Given the description of an element on the screen output the (x, y) to click on. 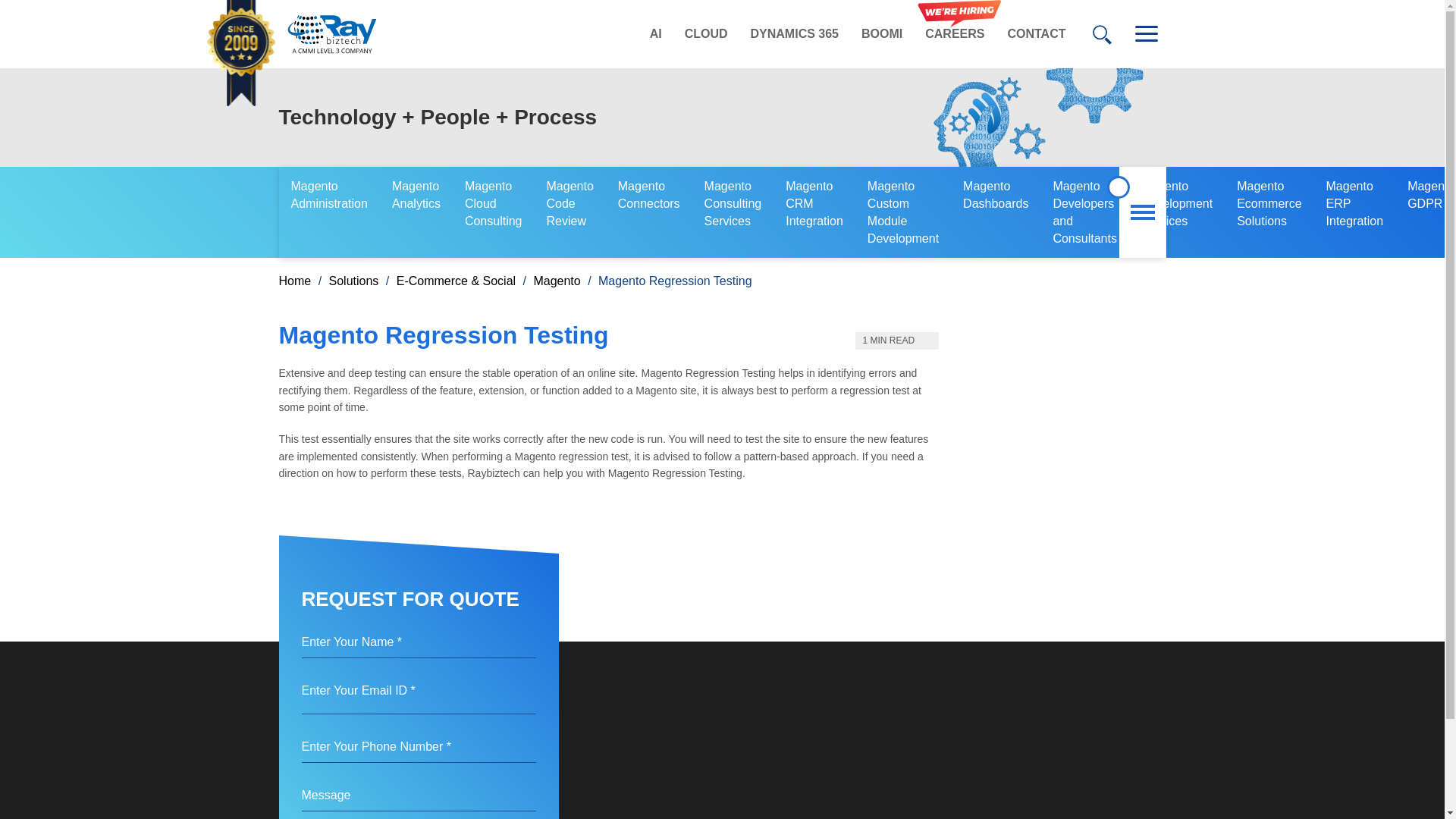
CONTACT (1036, 34)
CLOUD (705, 34)
BOOMI (882, 34)
DYNAMICS 365 (794, 34)
AI (655, 34)
CAREERS (954, 34)
